Given the description of an element on the screen output the (x, y) to click on. 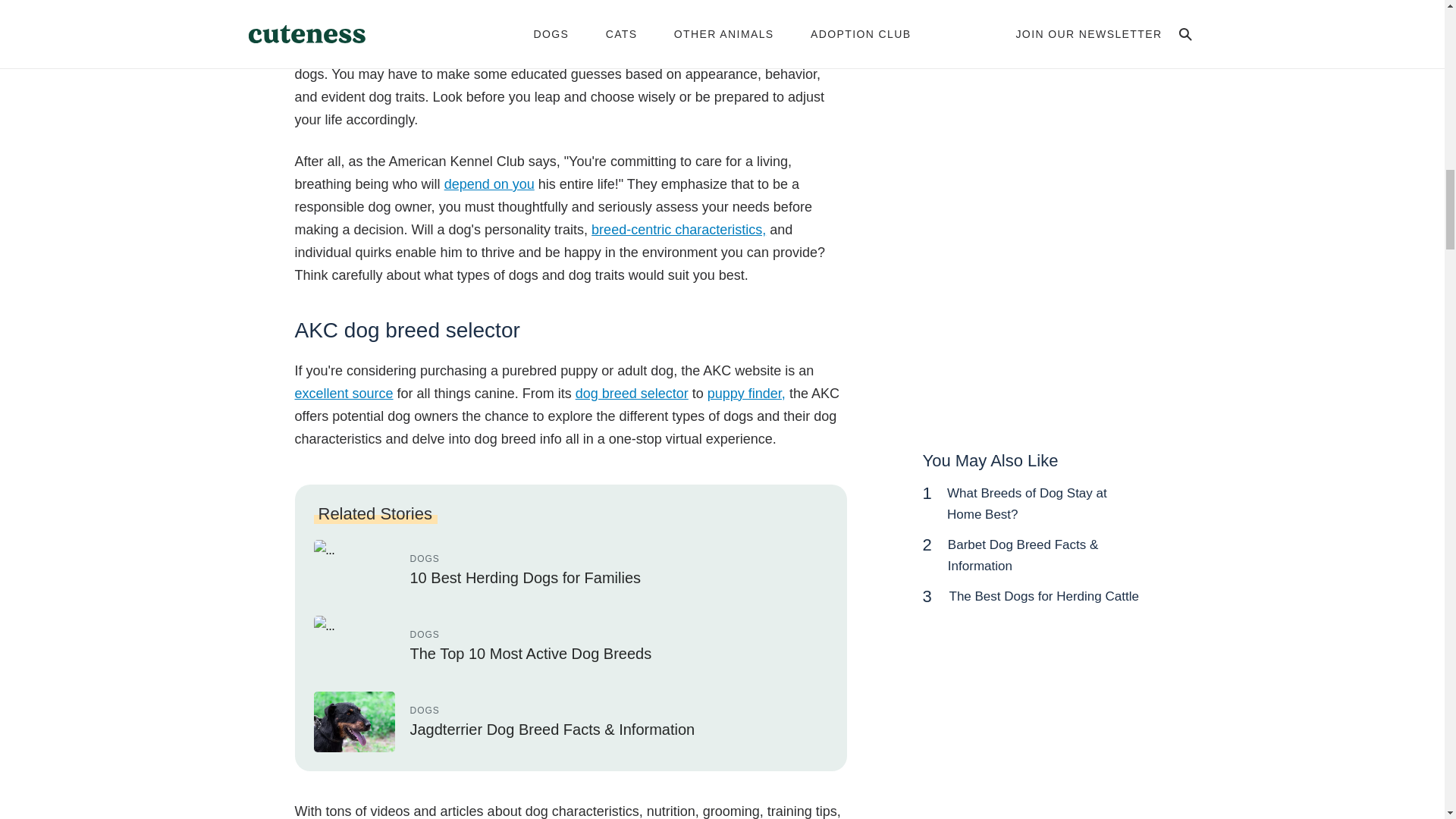
What Breeds of Dog Stay at Home Best? (1026, 503)
The Best Dogs for Herding Cattle (1043, 595)
